Given the description of an element on the screen output the (x, y) to click on. 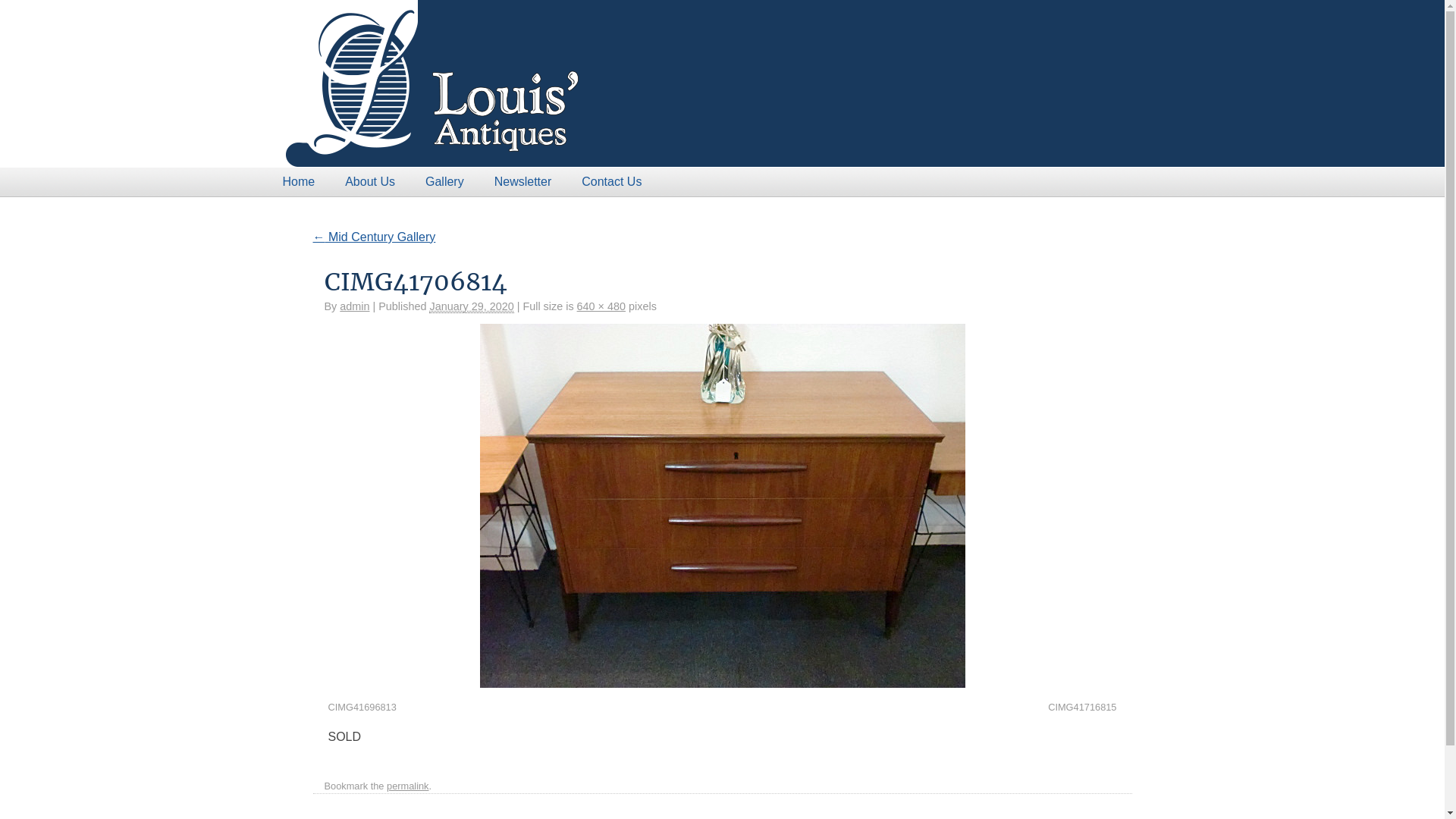
Newsletter Element type: text (523, 181)
About Us Element type: text (369, 181)
Contact Us Element type: text (611, 181)
Home Element type: text (297, 181)
CIMG41716815 Element type: text (1082, 706)
Gallery Element type: text (444, 181)
permalink Element type: text (407, 785)
CIMG41706814 Element type: hover (721, 505)
admin Element type: text (354, 306)
CIMG41696813 Element type: text (361, 706)
